Given the description of an element on the screen output the (x, y) to click on. 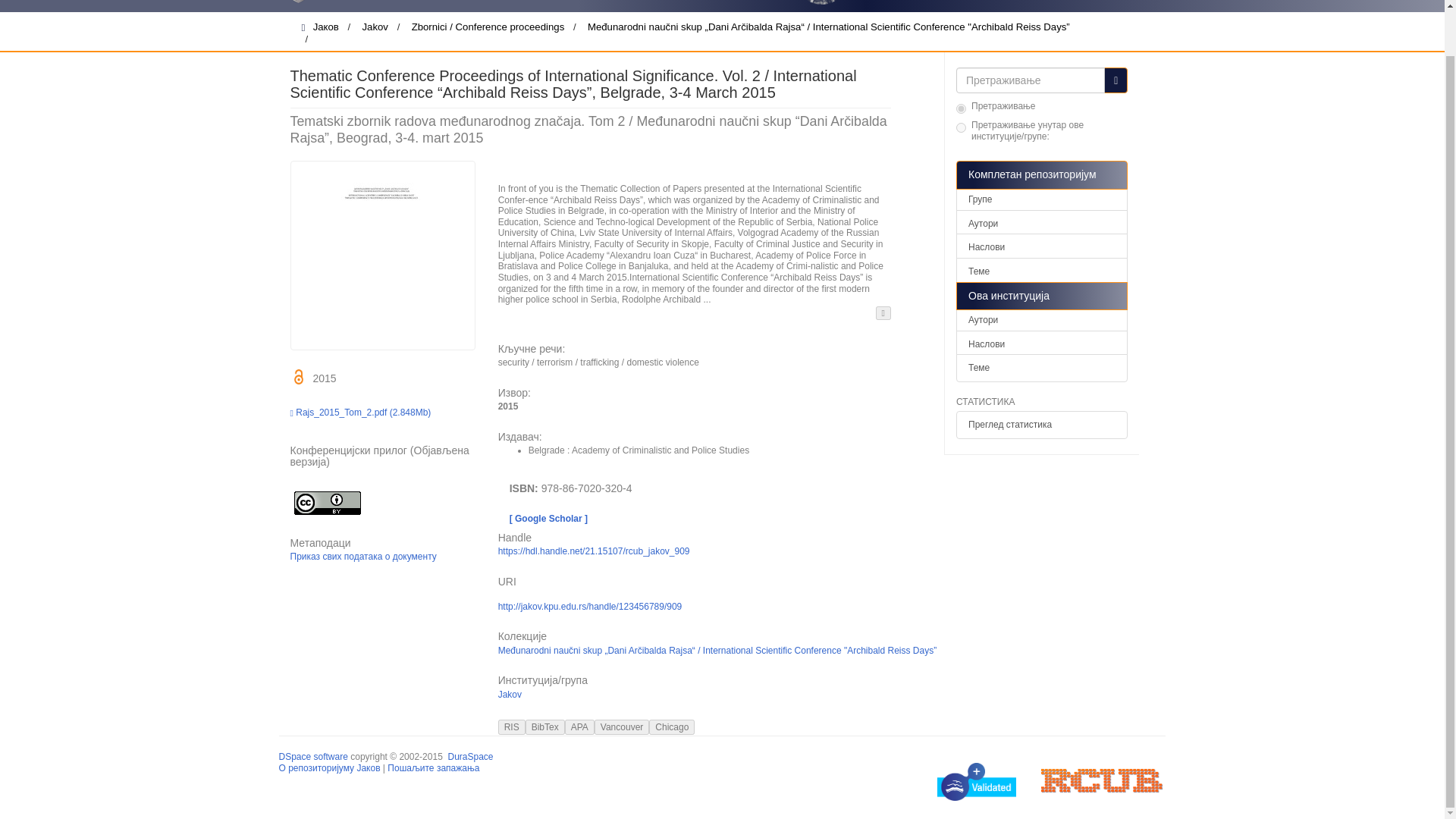
RCUB (1102, 780)
Creative Commons License (326, 501)
OpenAIRE (987, 780)
Jakov (509, 694)
Jakov (374, 26)
BibTex (544, 726)
RIS (511, 726)
